Given the description of an element on the screen output the (x, y) to click on. 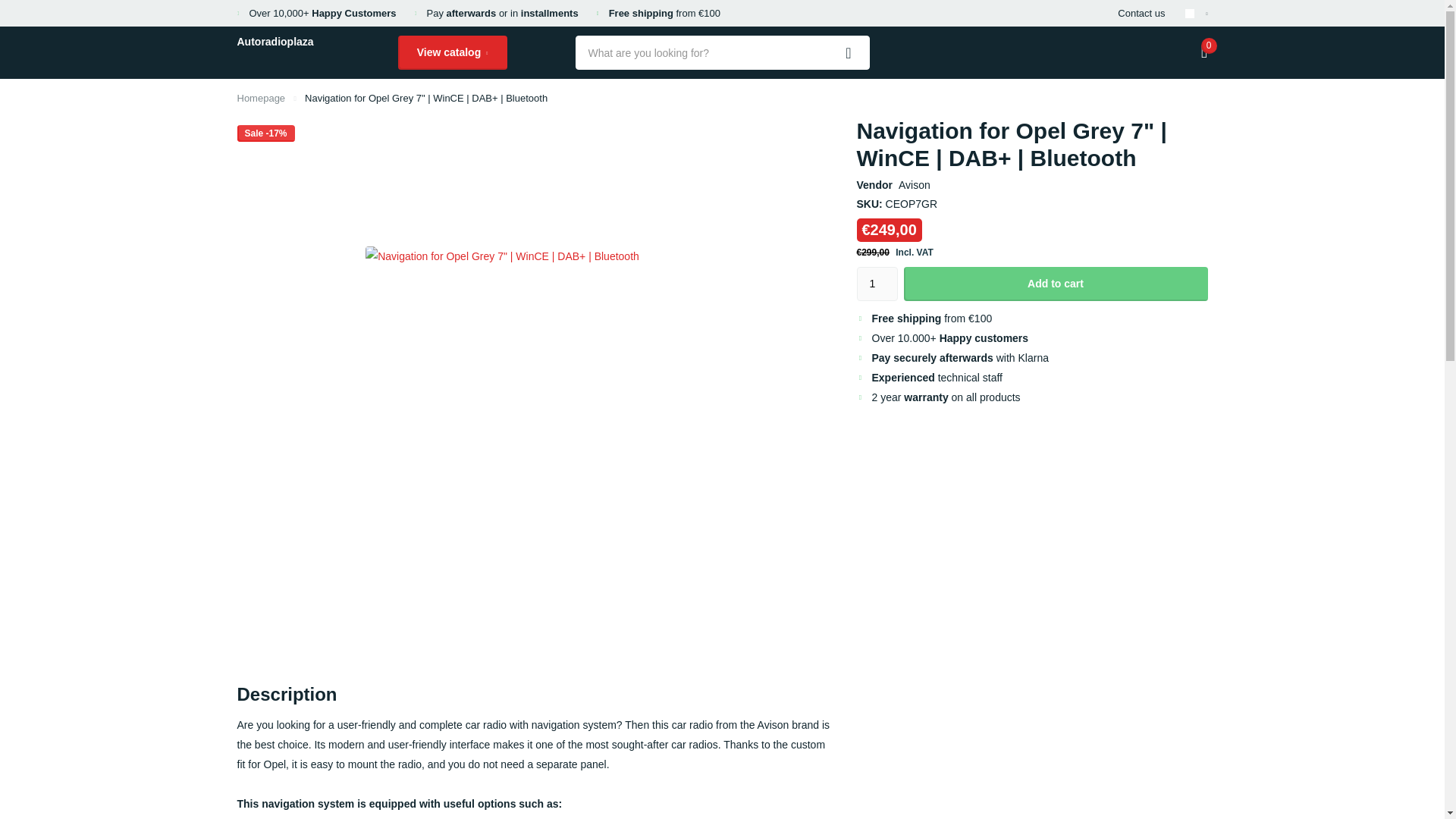
Avison (914, 184)
Contact us (1141, 13)
1 (877, 283)
Homepage (260, 98)
View catalog (451, 52)
Add to cart (1056, 283)
Zoeken (848, 52)
Home (260, 98)
